Given the description of an element on the screen output the (x, y) to click on. 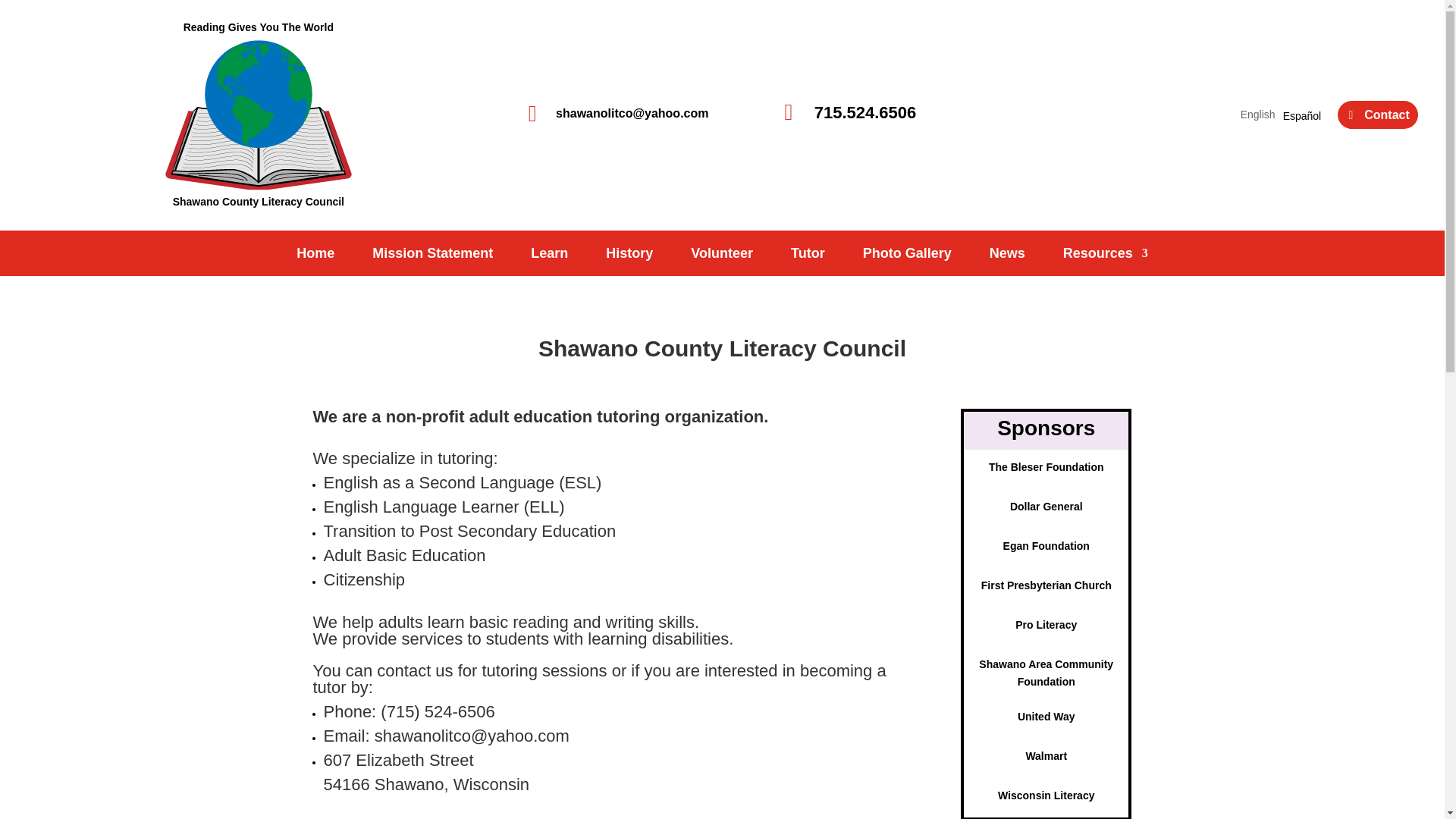
Resources (1105, 256)
Contact (1378, 114)
History (628, 256)
Language switcher : Spanish (1302, 115)
News (1007, 256)
Photo Gallery (907, 256)
Volunteer (721, 256)
Home (315, 256)
Tutor (807, 256)
Mission Statement (432, 256)
